Given the description of an element on the screen output the (x, y) to click on. 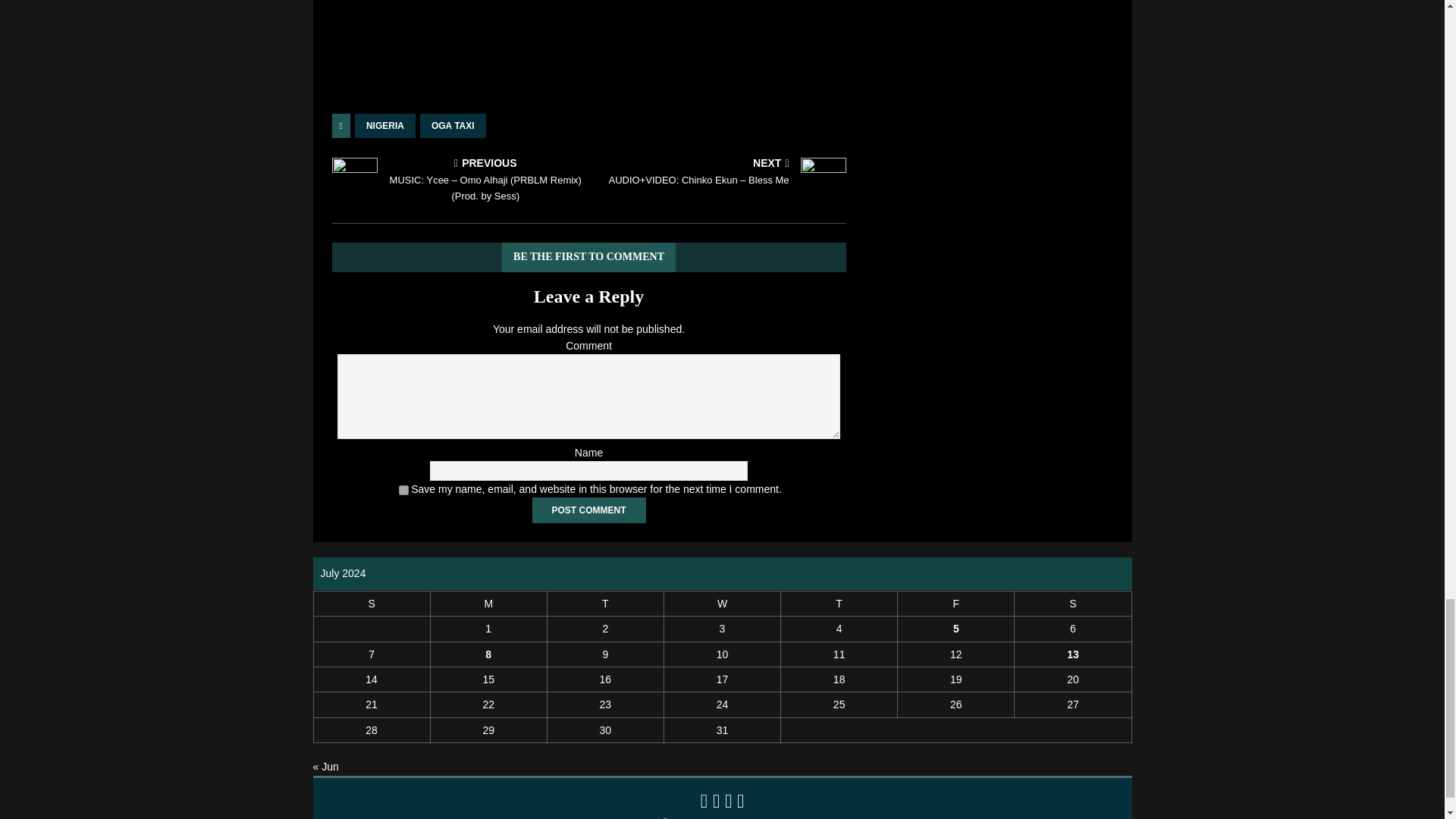
Monday (488, 602)
Sunday (371, 602)
Wednesday (721, 602)
Thursday (839, 602)
yes (403, 490)
Post Comment (589, 510)
Saturday (1072, 602)
Tuesday (605, 602)
Friday (956, 602)
